Given the description of an element on the screen output the (x, y) to click on. 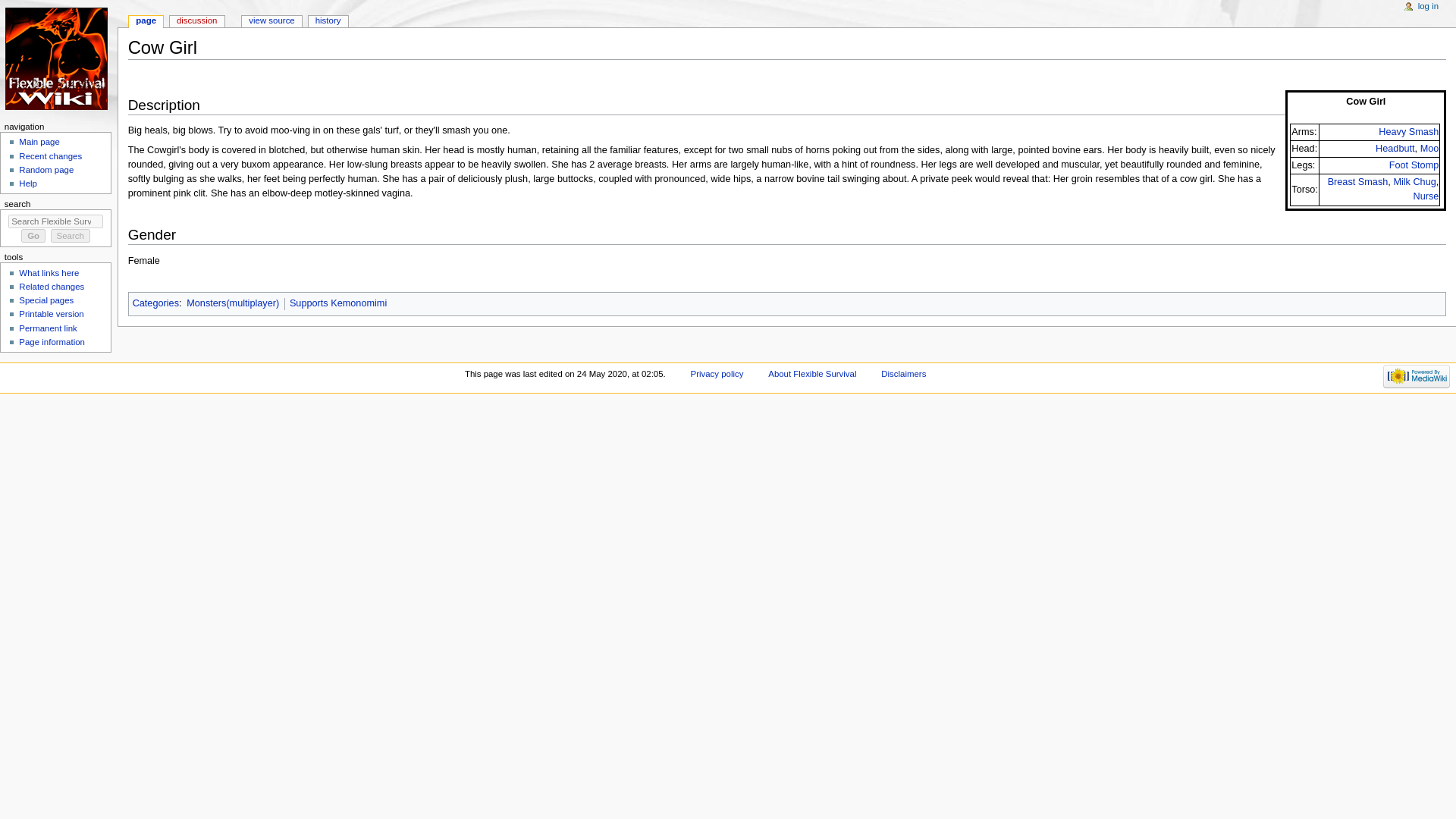
Related changes (51, 286)
Main page (38, 141)
Nurse (1425, 195)
history (327, 21)
Permanent link (47, 327)
Go (33, 235)
Printable version (50, 313)
Help (27, 183)
Milk Chug (1414, 181)
Privacy policy (717, 373)
Supports Kemonomimi (338, 303)
Moo (1430, 148)
Search (70, 235)
Foot Stomp (1414, 164)
Go (33, 235)
